Given the description of an element on the screen output the (x, y) to click on. 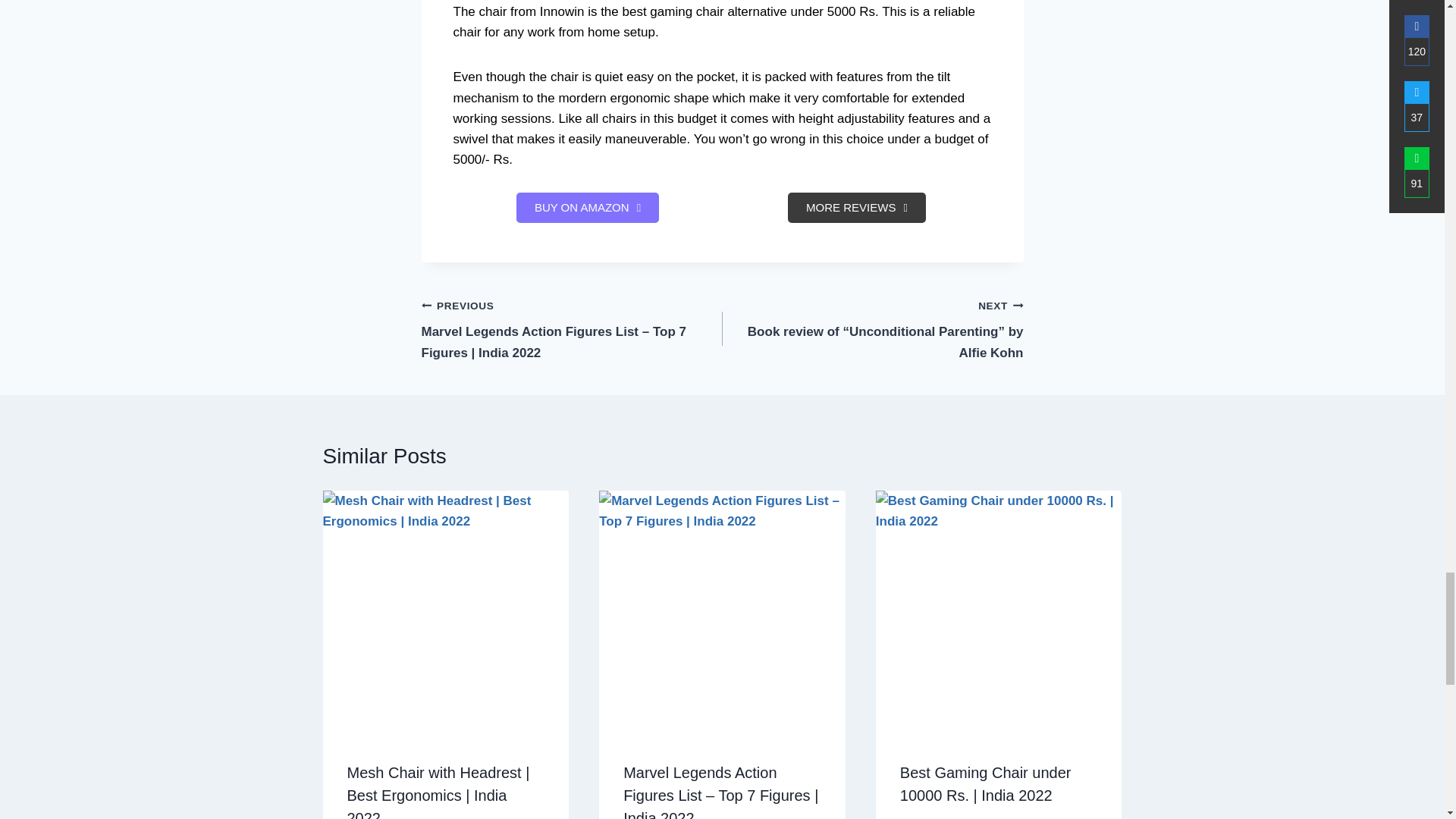
BUY ON AMAZON (587, 207)
MORE REVIEWS (856, 207)
